Given the description of an element on the screen output the (x, y) to click on. 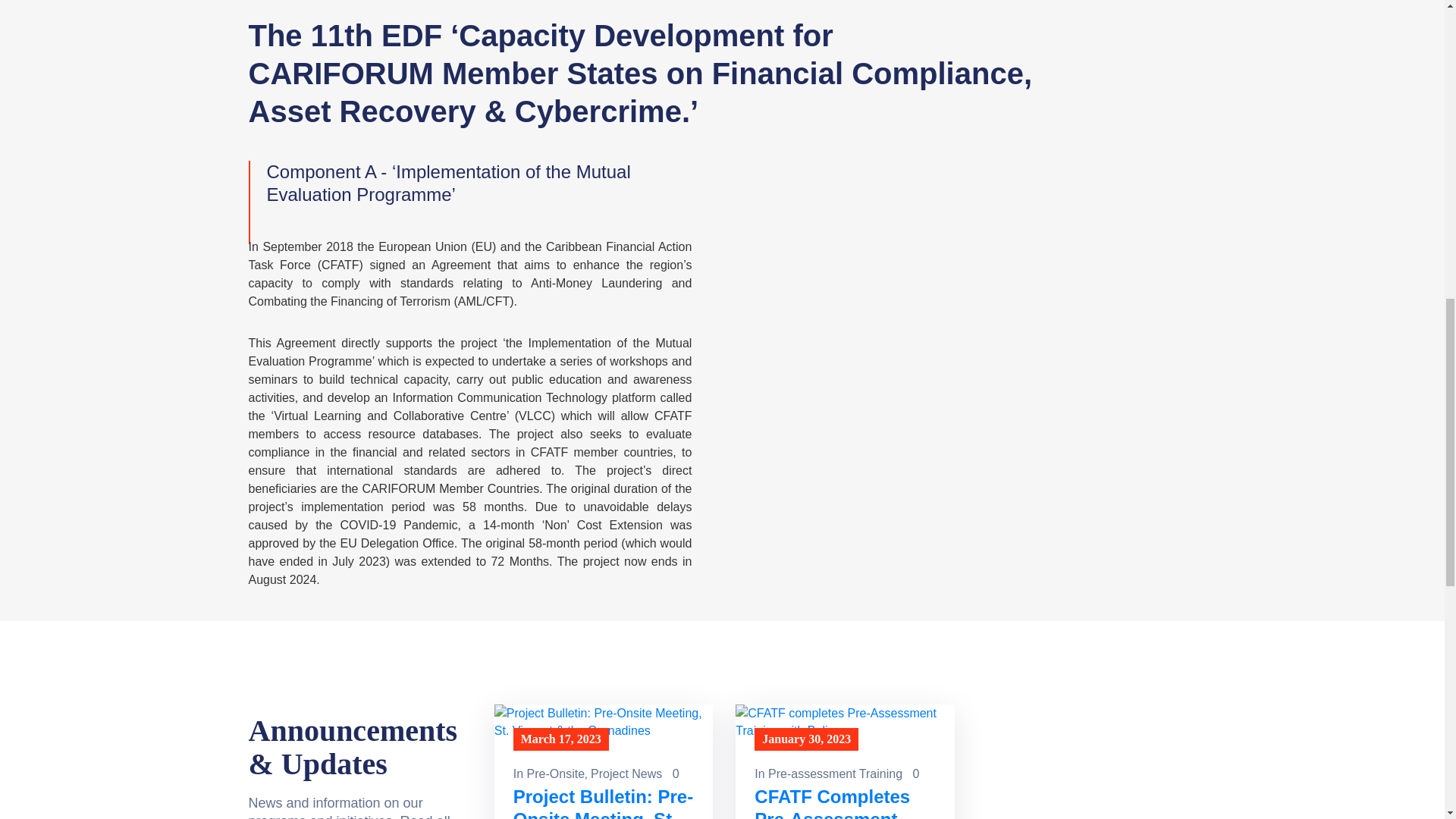
Pre-Onsite (556, 773)
CFATF completes Pre-Assessment Training with Belize (848, 802)
Project News (626, 773)
